Given the description of an element on the screen output the (x, y) to click on. 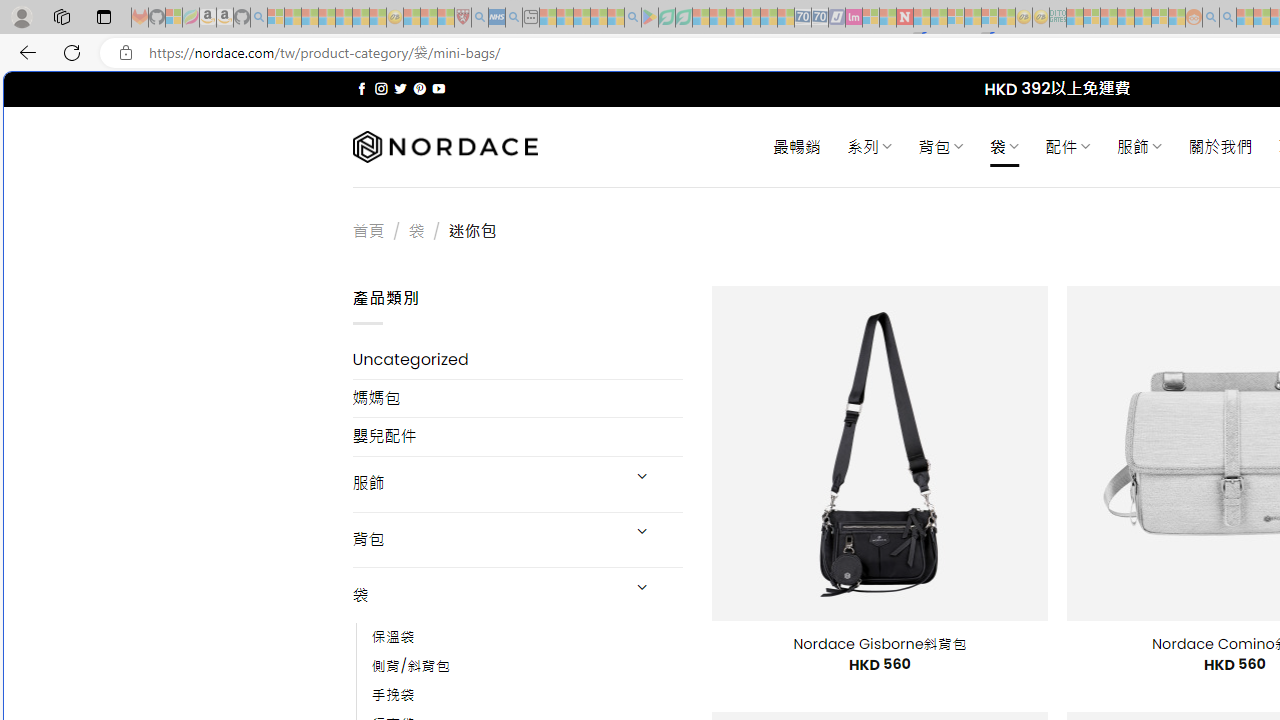
Utah sues federal government - Search - Sleeping (1227, 17)
14 Common Myths Debunked By Scientific Facts - Sleeping (938, 17)
Robert H. Shmerling, MD - Harvard Health - Sleeping (462, 17)
Terms of Use Agreement - Sleeping (666, 17)
New Report Confirms 2023 Was Record Hot | Watch - Sleeping (343, 17)
Local - MSN - Sleeping (445, 17)
Expert Portfolios - Sleeping (1125, 17)
